Given the description of an element on the screen output the (x, y) to click on. 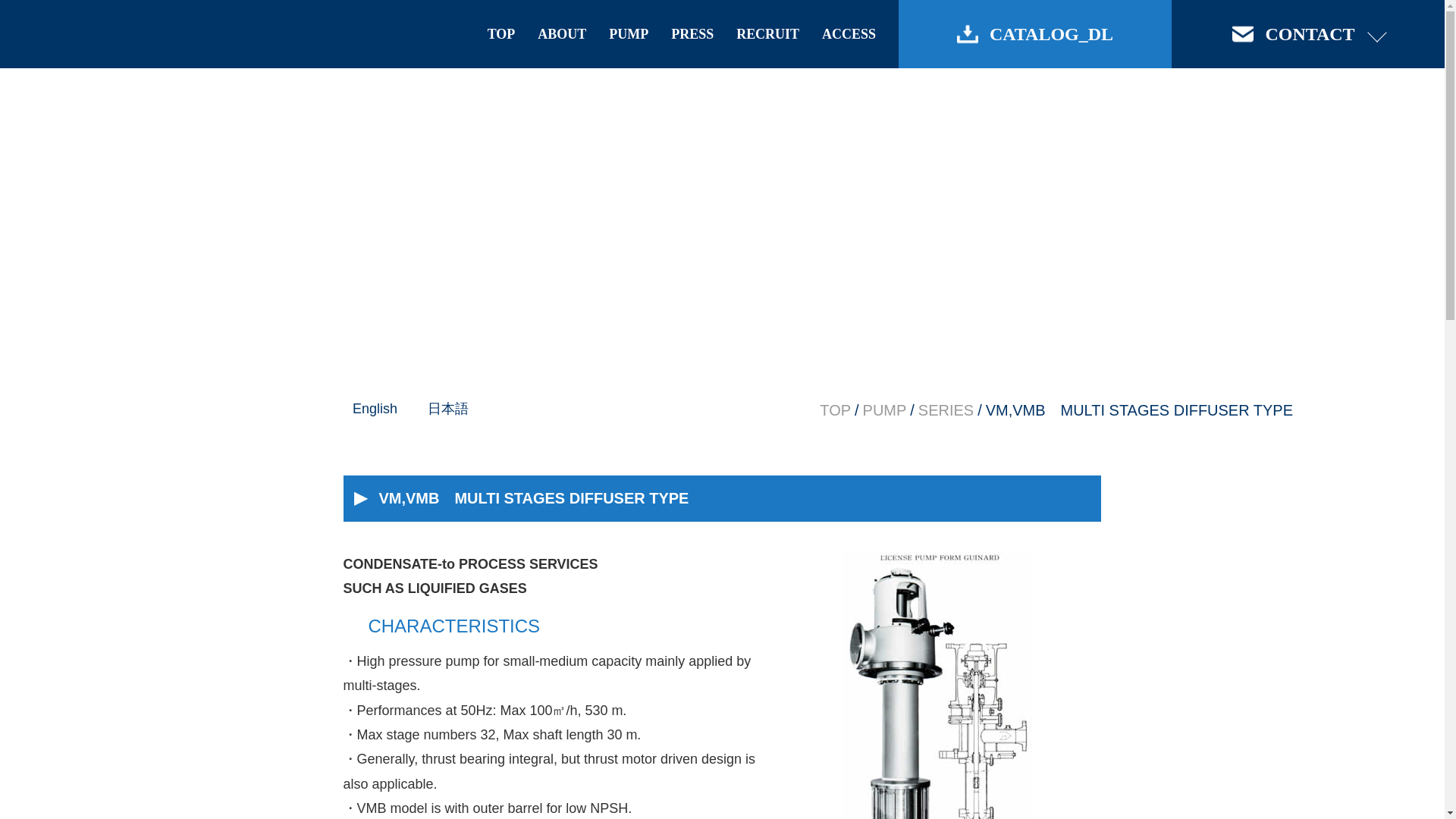
TOP (834, 410)
SERIES (946, 410)
English (374, 408)
PUMP (885, 410)
RECRUIT (767, 33)
English (374, 408)
Japanese (448, 408)
